Given the description of an element on the screen output the (x, y) to click on. 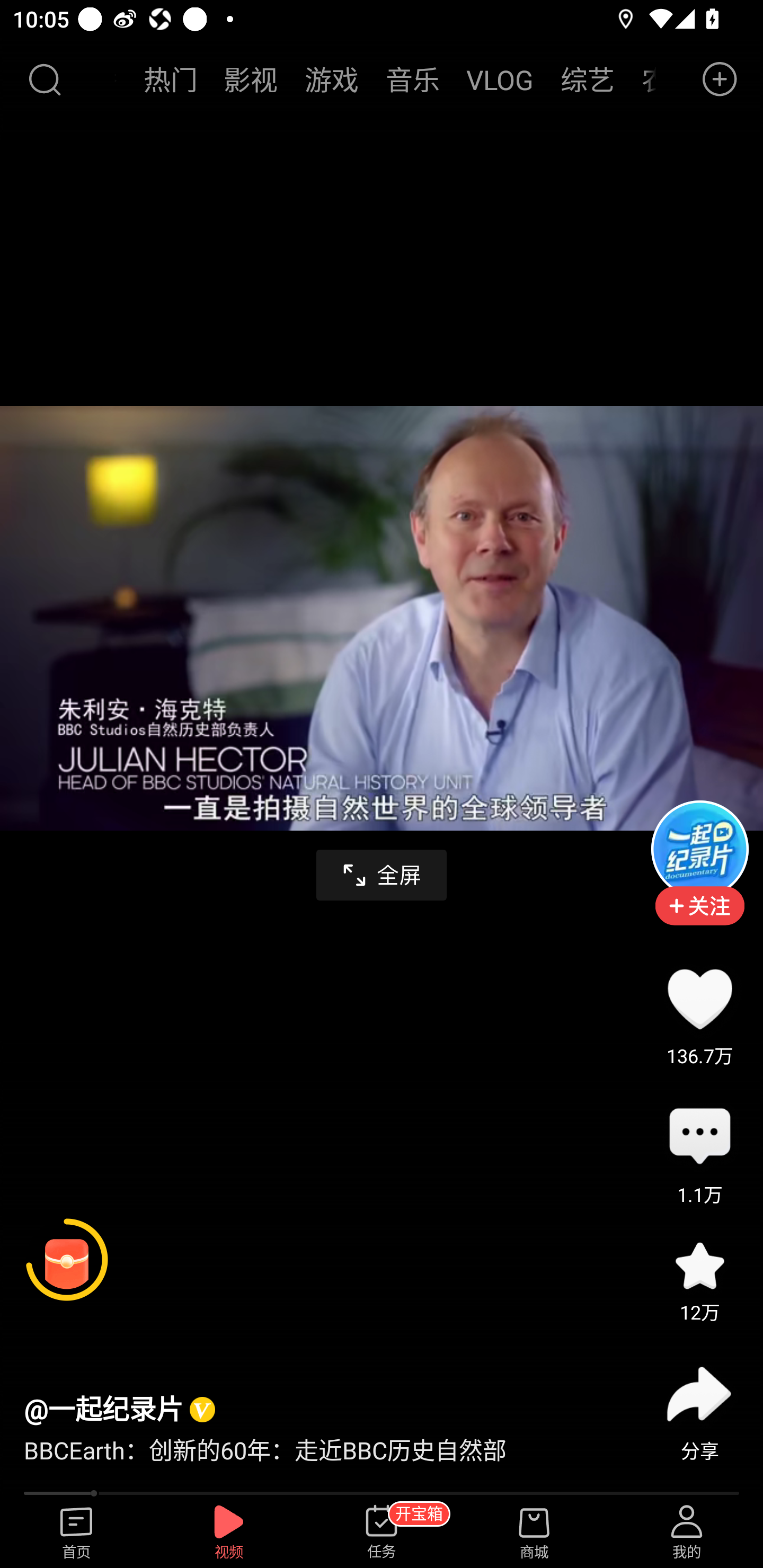
热门 (170, 79)
影视 (250, 79)
游戏 (331, 79)
音乐 (412, 79)
VLOG (500, 79)
综艺 (587, 79)
搜索 (44, 79)
发布 (720, 79)
头像 (699, 848)
全屏播放 (381, 874)
加关注 (699, 918)
点赞1366679 136.7万 (699, 998)
评论11819 评论 1.1万 (699, 1137)
收藏 12万 (699, 1265)
阅读赚金币 (66, 1259)
分享 (699, 1393)
@一起纪录片 (103, 1409)
首页 (76, 1532)
视频 (228, 1532)
任务 开宝箱 (381, 1532)
商城 (533, 1532)
我的 (686, 1532)
